Given the description of an element on the screen output the (x, y) to click on. 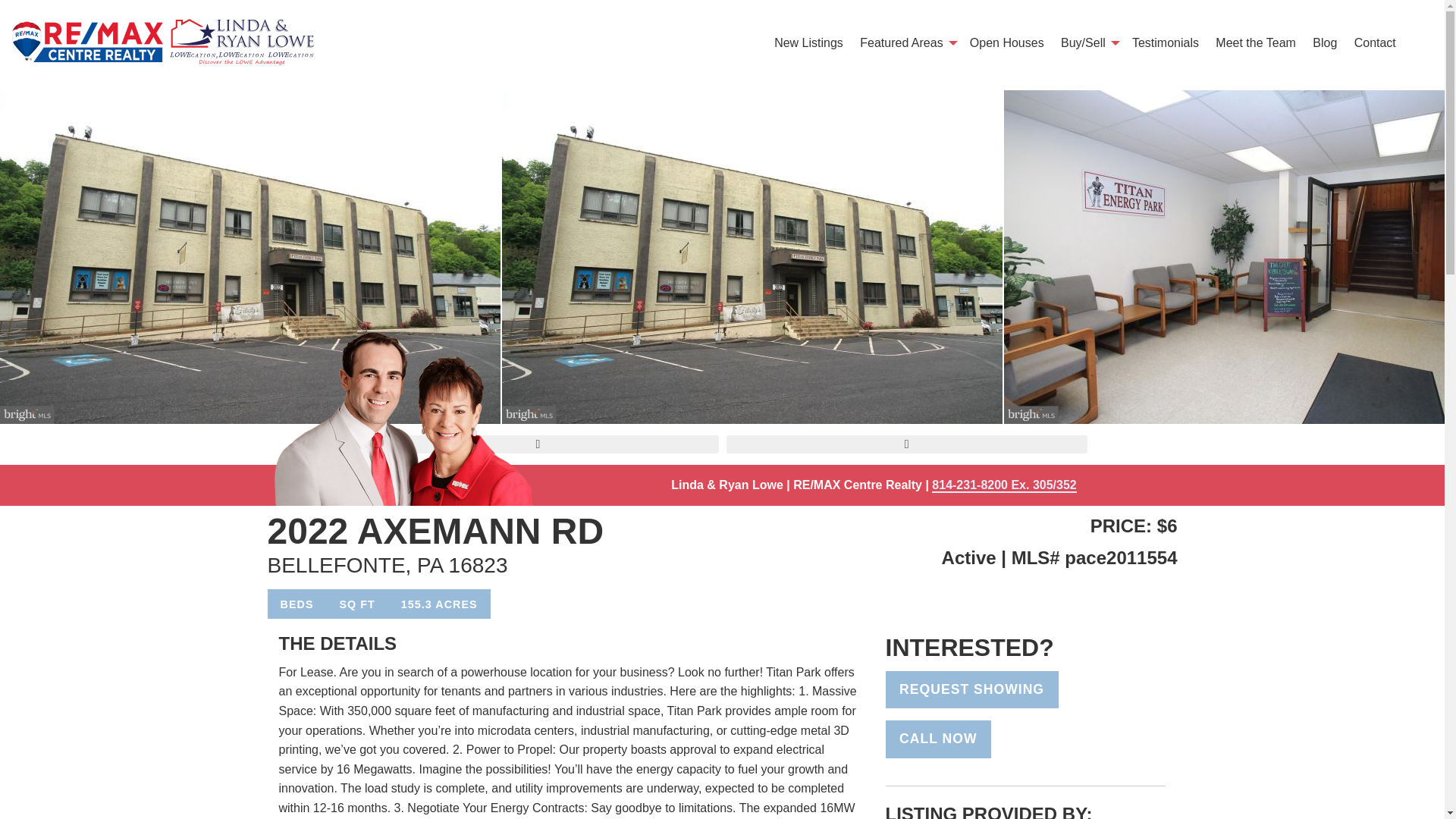
Open Houses (1006, 42)
Featured Areas (905, 42)
Contact (1375, 42)
Meet the Team (1255, 42)
Blog (1324, 42)
New Listings (808, 42)
Testimonials (1165, 42)
